Given the description of an element on the screen output the (x, y) to click on. 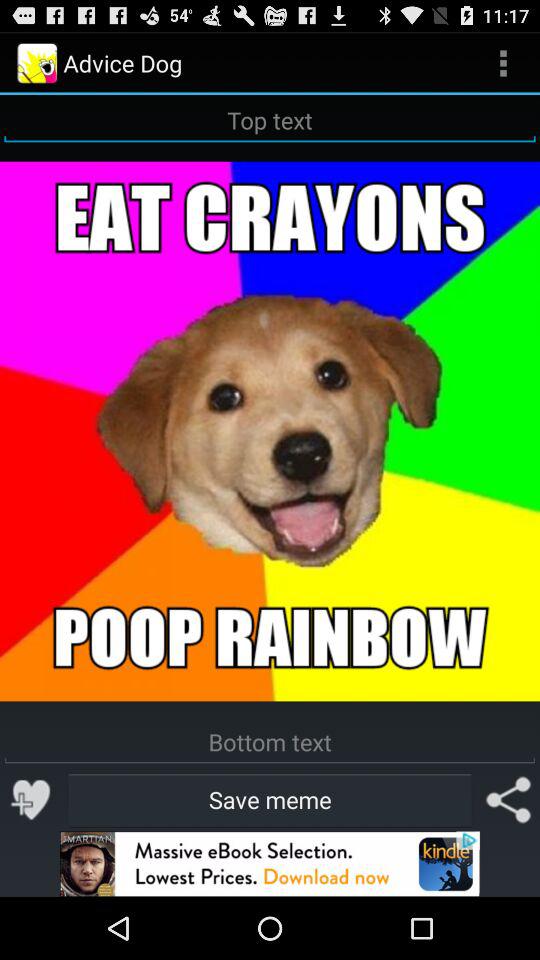
enter text (270, 742)
